Given the description of an element on the screen output the (x, y) to click on. 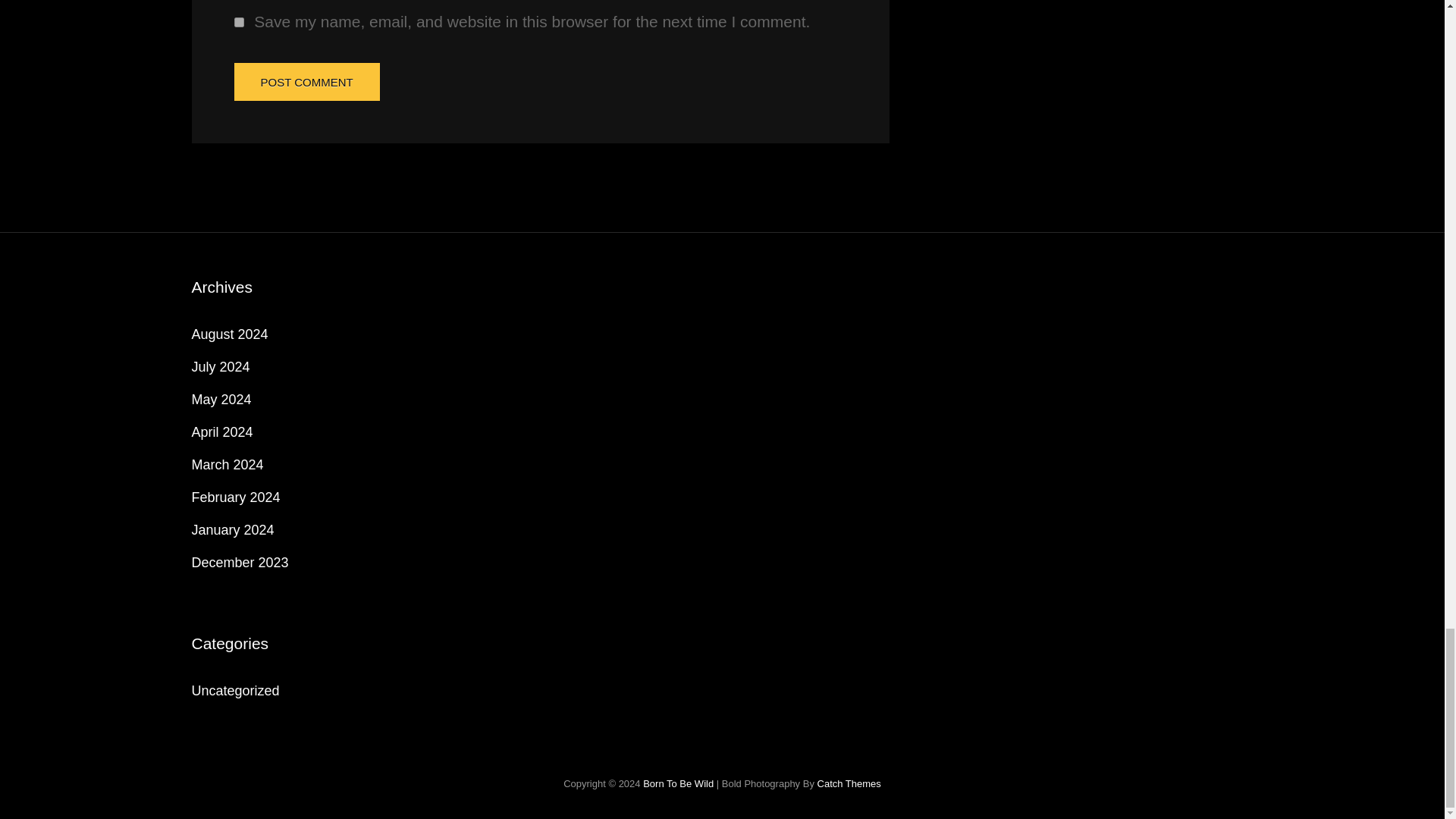
July 2024 (219, 366)
Born To Be Wild (678, 783)
March 2024 (226, 464)
April 2024 (220, 432)
May 2024 (220, 399)
Uncategorized (234, 690)
January 2024 (231, 529)
December 2023 (239, 562)
Post Comment (305, 81)
Post Comment (305, 81)
